Given the description of an element on the screen output the (x, y) to click on. 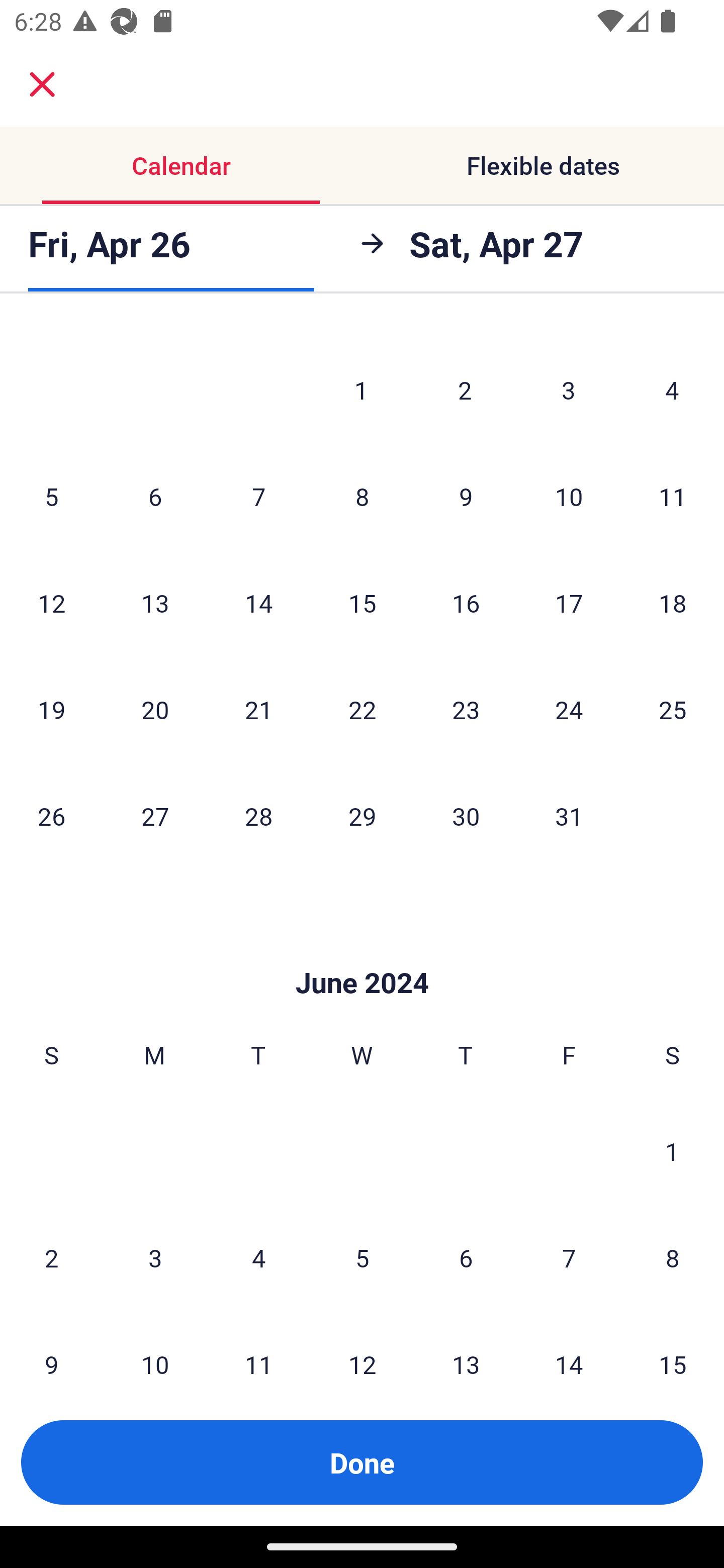
close. (42, 84)
Flexible dates (542, 164)
1 Wednesday, May 1, 2024 (361, 389)
2 Thursday, May 2, 2024 (464, 389)
3 Friday, May 3, 2024 (568, 389)
4 Saturday, May 4, 2024 (672, 389)
5 Sunday, May 5, 2024 (51, 496)
6 Monday, May 6, 2024 (155, 496)
7 Tuesday, May 7, 2024 (258, 496)
8 Wednesday, May 8, 2024 (362, 496)
9 Thursday, May 9, 2024 (465, 496)
10 Friday, May 10, 2024 (569, 496)
11 Saturday, May 11, 2024 (672, 496)
12 Sunday, May 12, 2024 (51, 602)
13 Monday, May 13, 2024 (155, 602)
14 Tuesday, May 14, 2024 (258, 602)
15 Wednesday, May 15, 2024 (362, 602)
16 Thursday, May 16, 2024 (465, 602)
17 Friday, May 17, 2024 (569, 602)
18 Saturday, May 18, 2024 (672, 602)
19 Sunday, May 19, 2024 (51, 709)
20 Monday, May 20, 2024 (155, 709)
21 Tuesday, May 21, 2024 (258, 709)
22 Wednesday, May 22, 2024 (362, 709)
23 Thursday, May 23, 2024 (465, 709)
24 Friday, May 24, 2024 (569, 709)
25 Saturday, May 25, 2024 (672, 709)
26 Sunday, May 26, 2024 (51, 816)
27 Monday, May 27, 2024 (155, 816)
28 Tuesday, May 28, 2024 (258, 816)
29 Wednesday, May 29, 2024 (362, 816)
30 Thursday, May 30, 2024 (465, 816)
31 Friday, May 31, 2024 (569, 816)
Skip to Done (362, 953)
1 Saturday, June 1, 2024 (672, 1150)
2 Sunday, June 2, 2024 (51, 1257)
3 Monday, June 3, 2024 (155, 1257)
4 Tuesday, June 4, 2024 (258, 1257)
5 Wednesday, June 5, 2024 (362, 1257)
6 Thursday, June 6, 2024 (465, 1257)
7 Friday, June 7, 2024 (569, 1257)
8 Saturday, June 8, 2024 (672, 1257)
9 Sunday, June 9, 2024 (51, 1345)
10 Monday, June 10, 2024 (155, 1345)
11 Tuesday, June 11, 2024 (258, 1345)
12 Wednesday, June 12, 2024 (362, 1345)
13 Thursday, June 13, 2024 (465, 1345)
14 Friday, June 14, 2024 (569, 1345)
15 Saturday, June 15, 2024 (672, 1345)
Done (361, 1462)
